Given the description of an element on the screen output the (x, y) to click on. 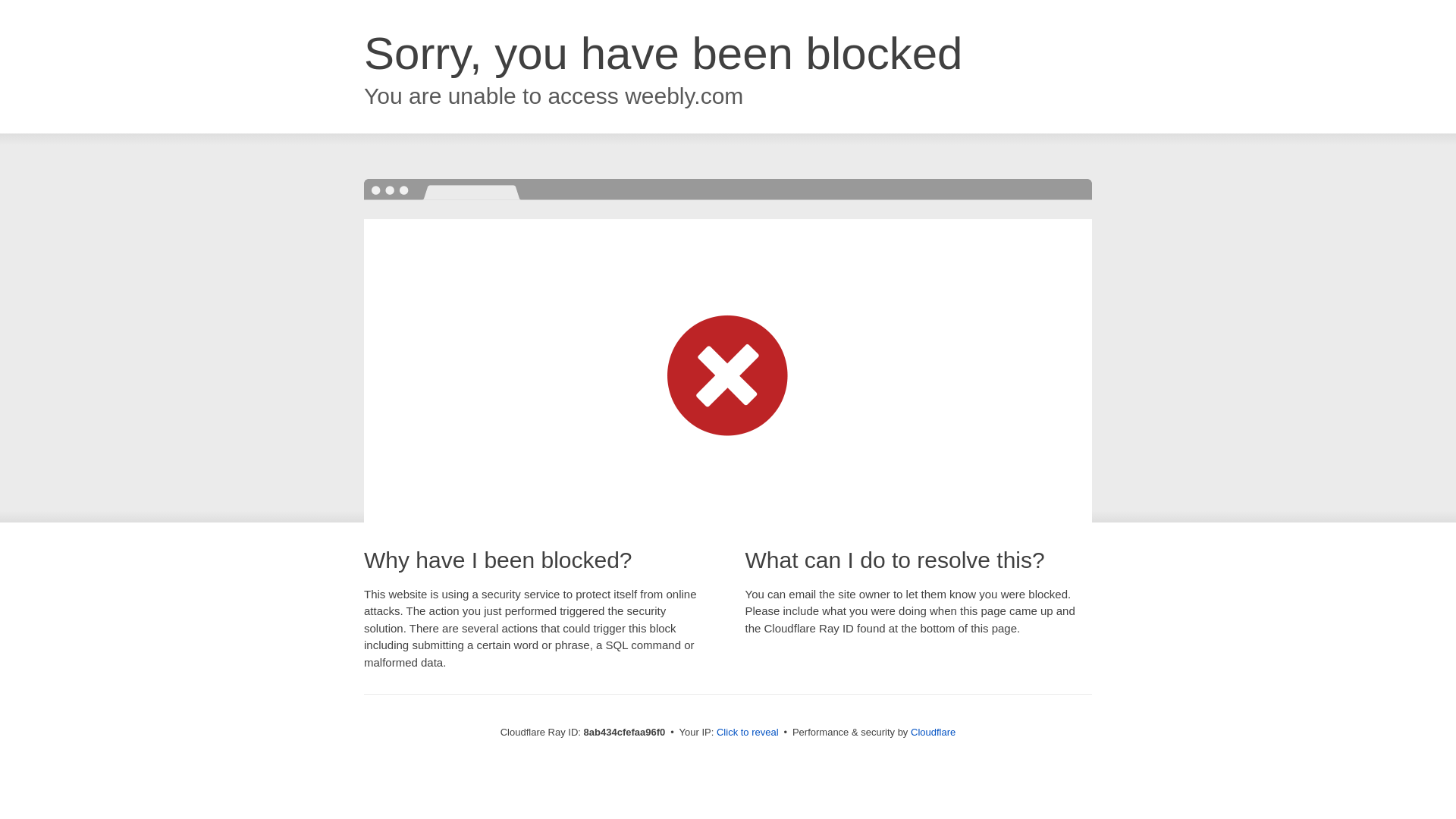
Cloudflare (933, 731)
Click to reveal (747, 732)
